Given the description of an element on the screen output the (x, y) to click on. 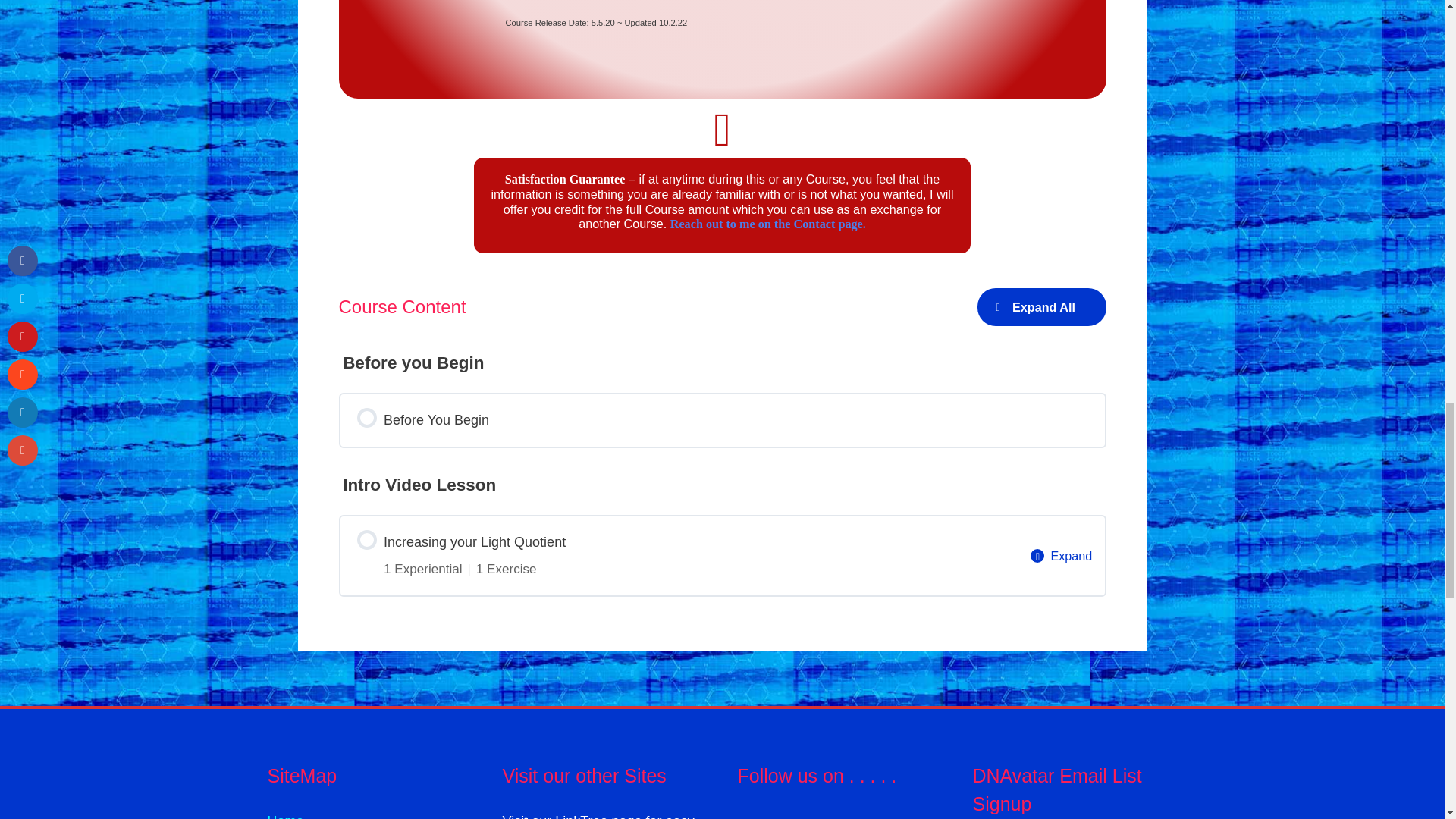
Reach out to me on the Contact page. (767, 223)
Home (284, 816)
Before You Begin (721, 419)
